Given the description of an element on the screen output the (x, y) to click on. 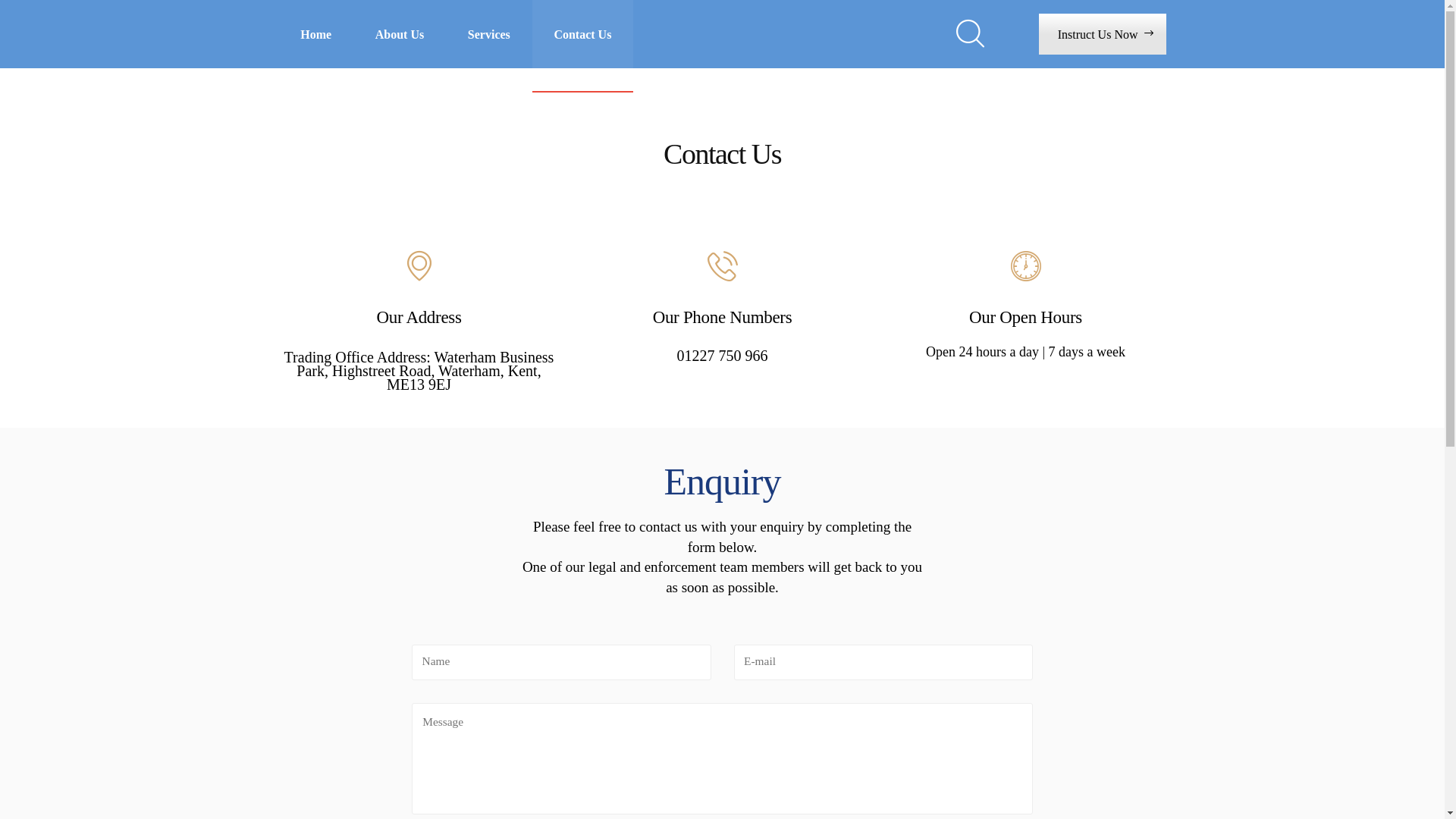
Home Element type: text (316, 34)
Instruct Us Now Element type: text (1102, 33)
Contact Us Element type: text (582, 34)
About Us Element type: text (399, 34)
01227 750 966 Element type: text (721, 355)
Services Element type: text (488, 34)
